Given the description of an element on the screen output the (x, y) to click on. 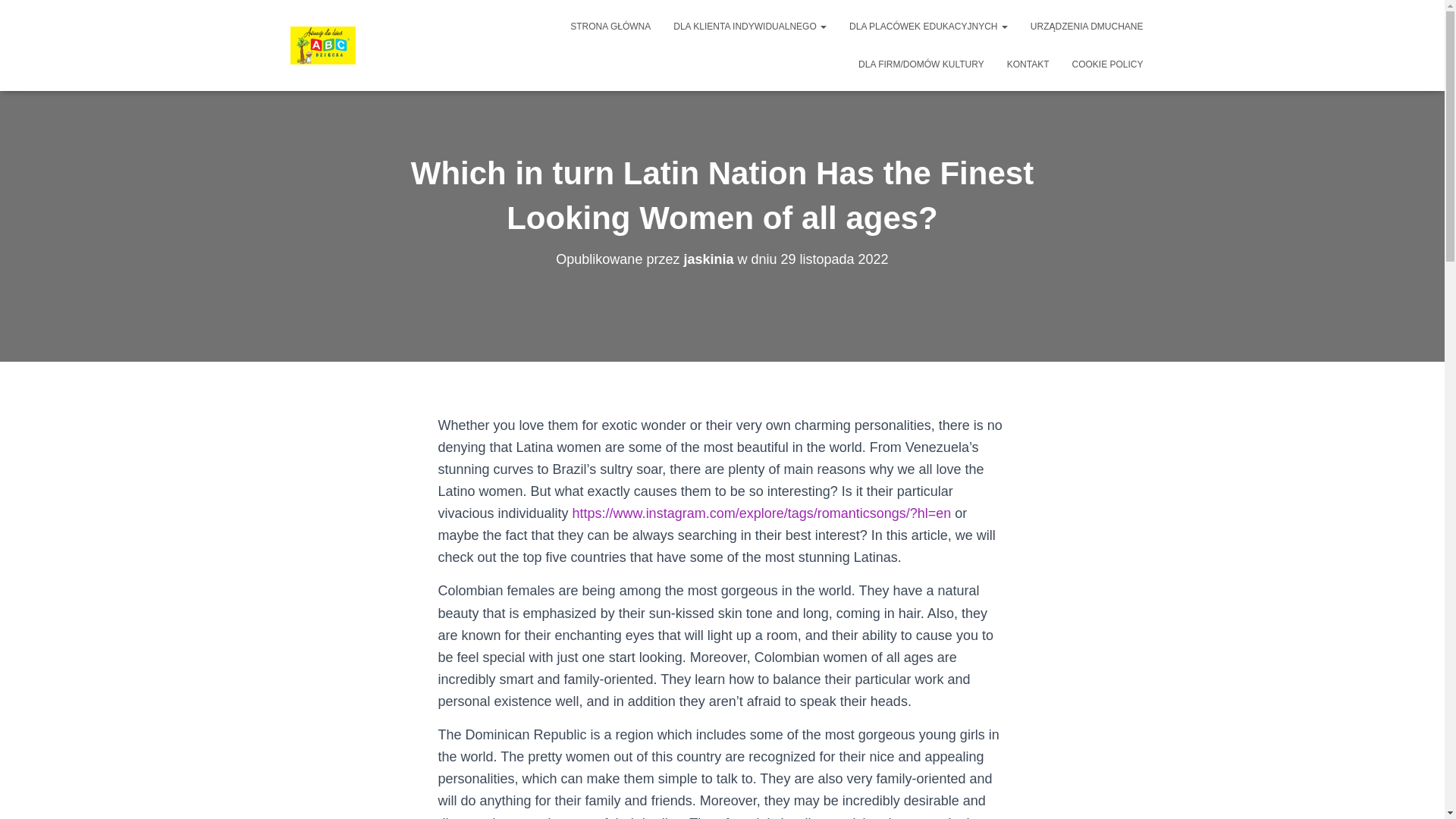
Kontakt (1028, 64)
Dla klienta indywidualnego (750, 26)
KONTAKT (1028, 64)
DLA KLIENTA INDYWIDUALNEGO (750, 26)
ANIMATOR ABC DZIECKA (323, 45)
COOKIE POLICY (1106, 64)
jaskinia (707, 258)
